Given the description of an element on the screen output the (x, y) to click on. 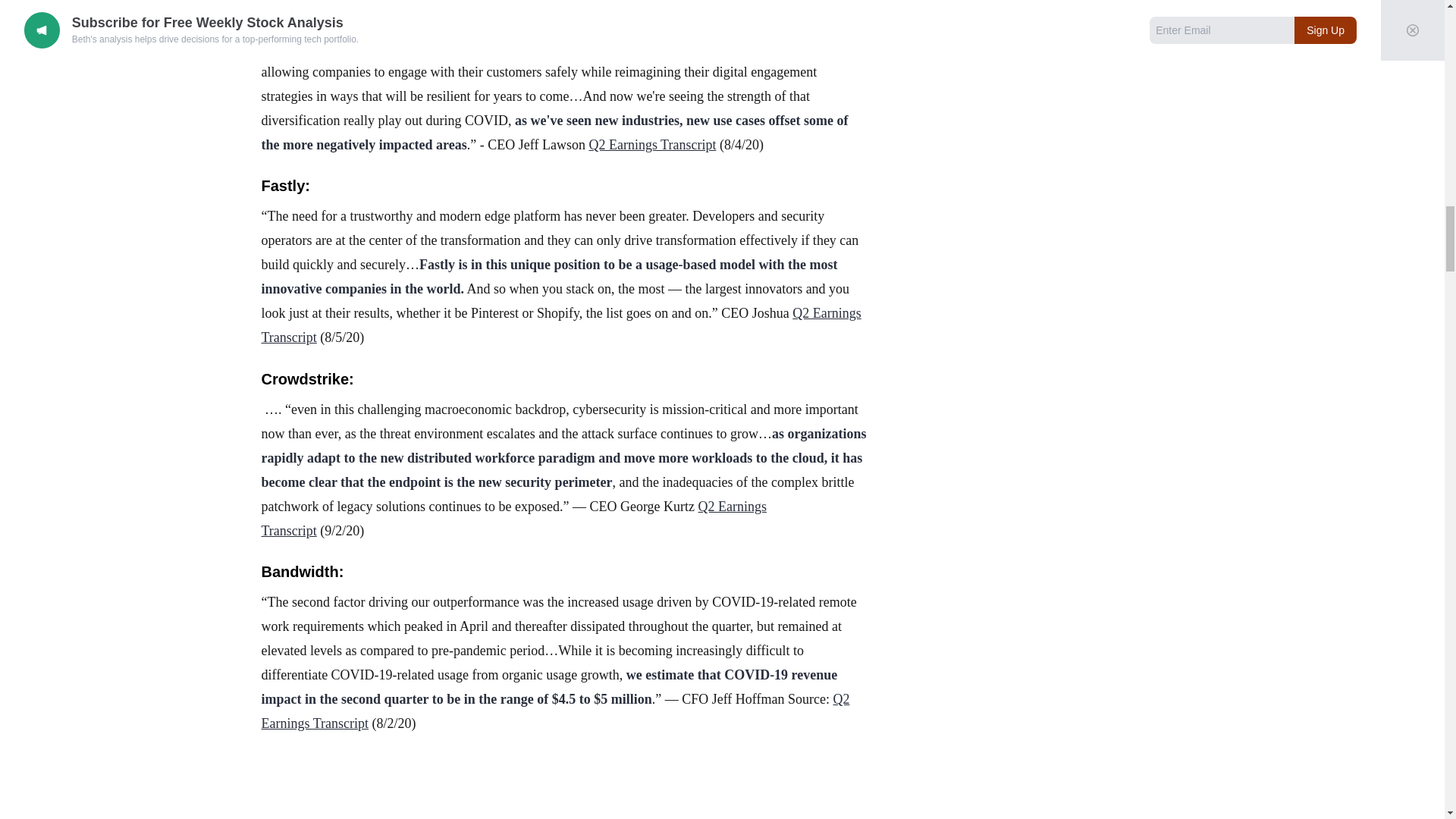
Q2 Earnings Transcript (652, 144)
Q2 Earnings Transcript (554, 711)
Q2 Earnings Transcript (513, 518)
Q2 Earnings Transcript (560, 324)
